Given the description of an element on the screen output the (x, y) to click on. 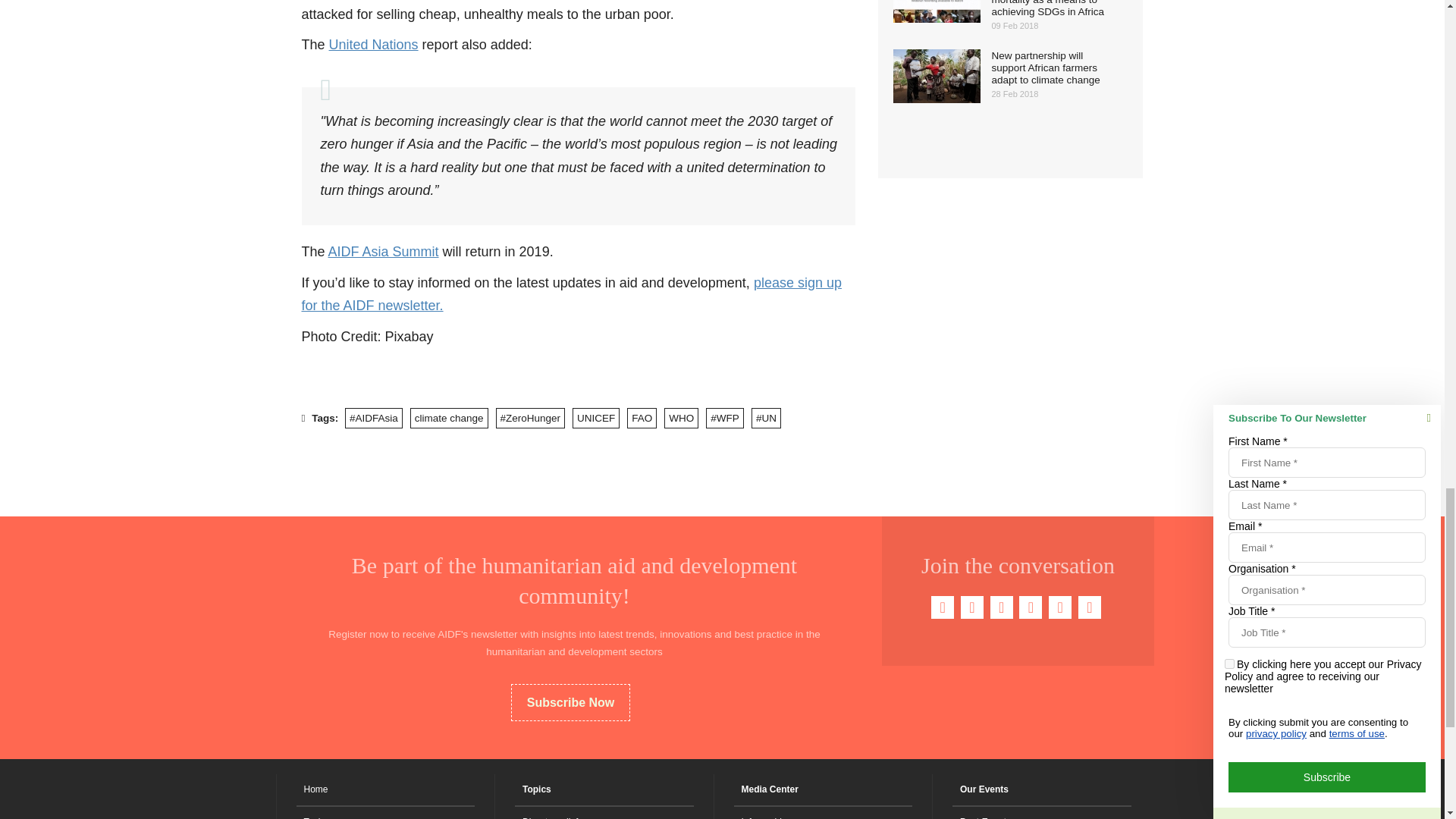
climate change (448, 417)
